Given the description of an element on the screen output the (x, y) to click on. 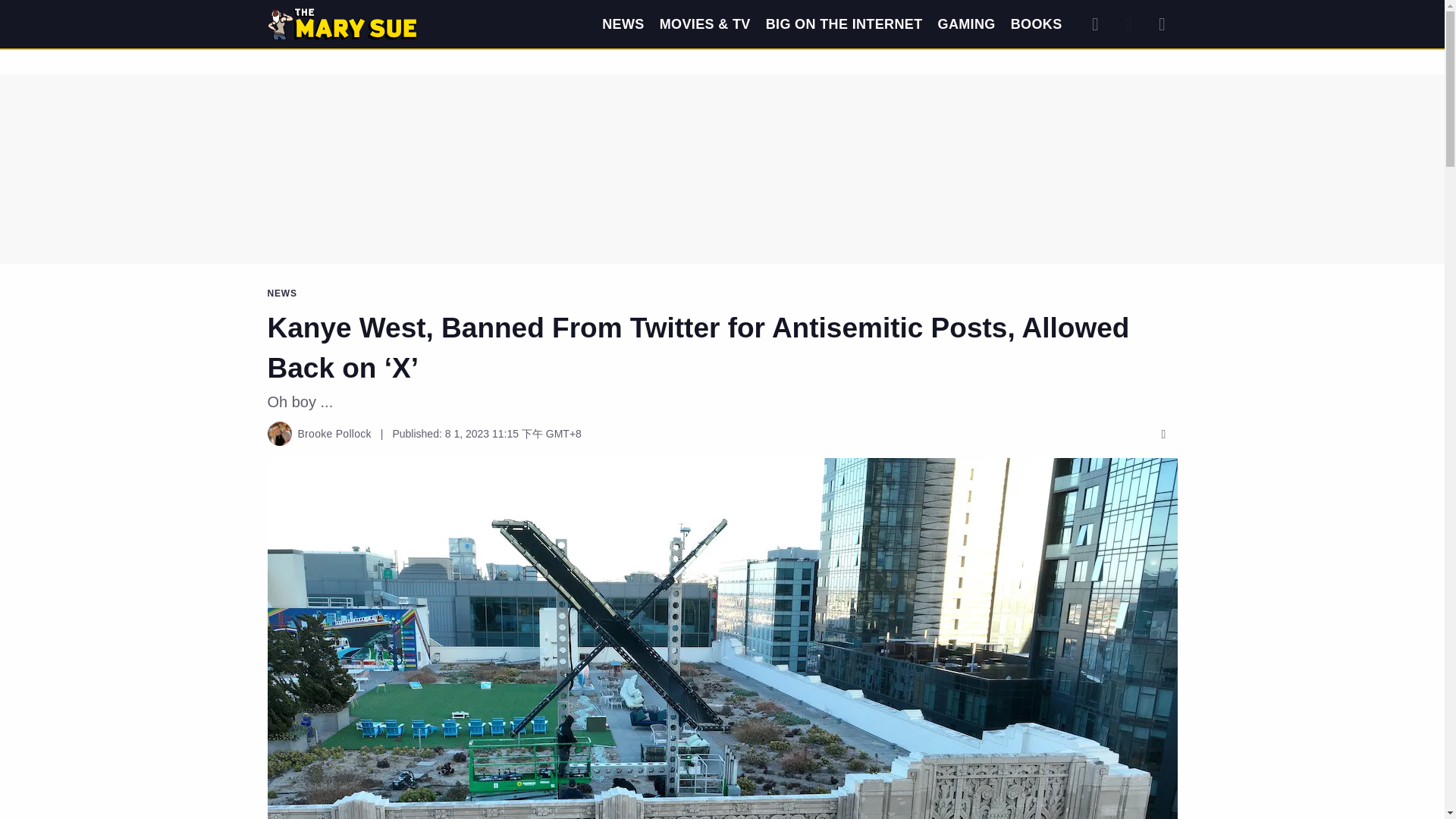
Expand Menu (1161, 24)
Search (1094, 24)
BOOKS (1036, 23)
GAMING (966, 23)
Dark Mode (1127, 24)
NEWS (622, 23)
BIG ON THE INTERNET (844, 23)
